Given the description of an element on the screen output the (x, y) to click on. 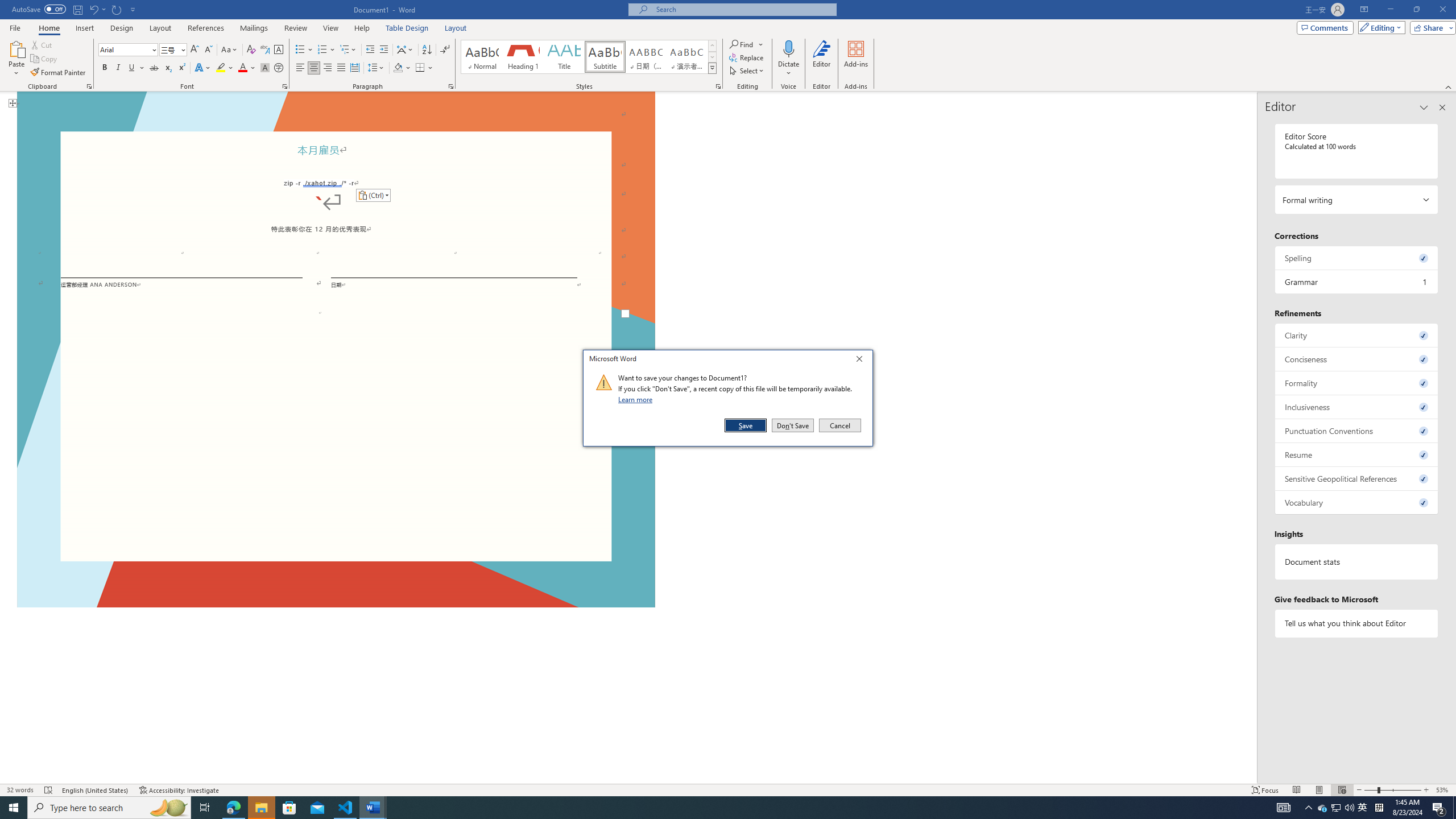
Font Color Red (241, 67)
Don't Save (792, 425)
